Given the description of an element on the screen output the (x, y) to click on. 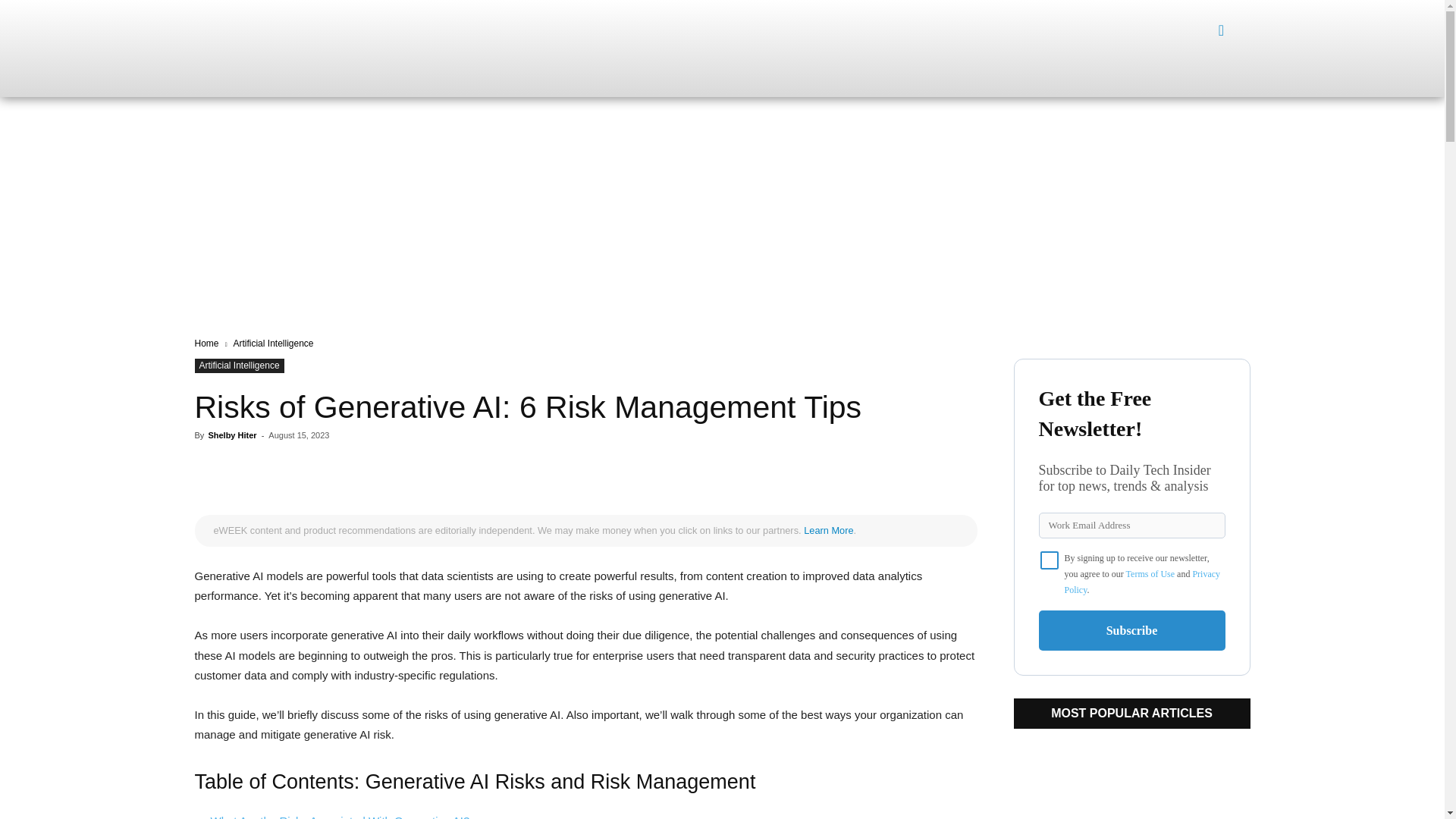
on (1049, 560)
